Given the description of an element on the screen output the (x, y) to click on. 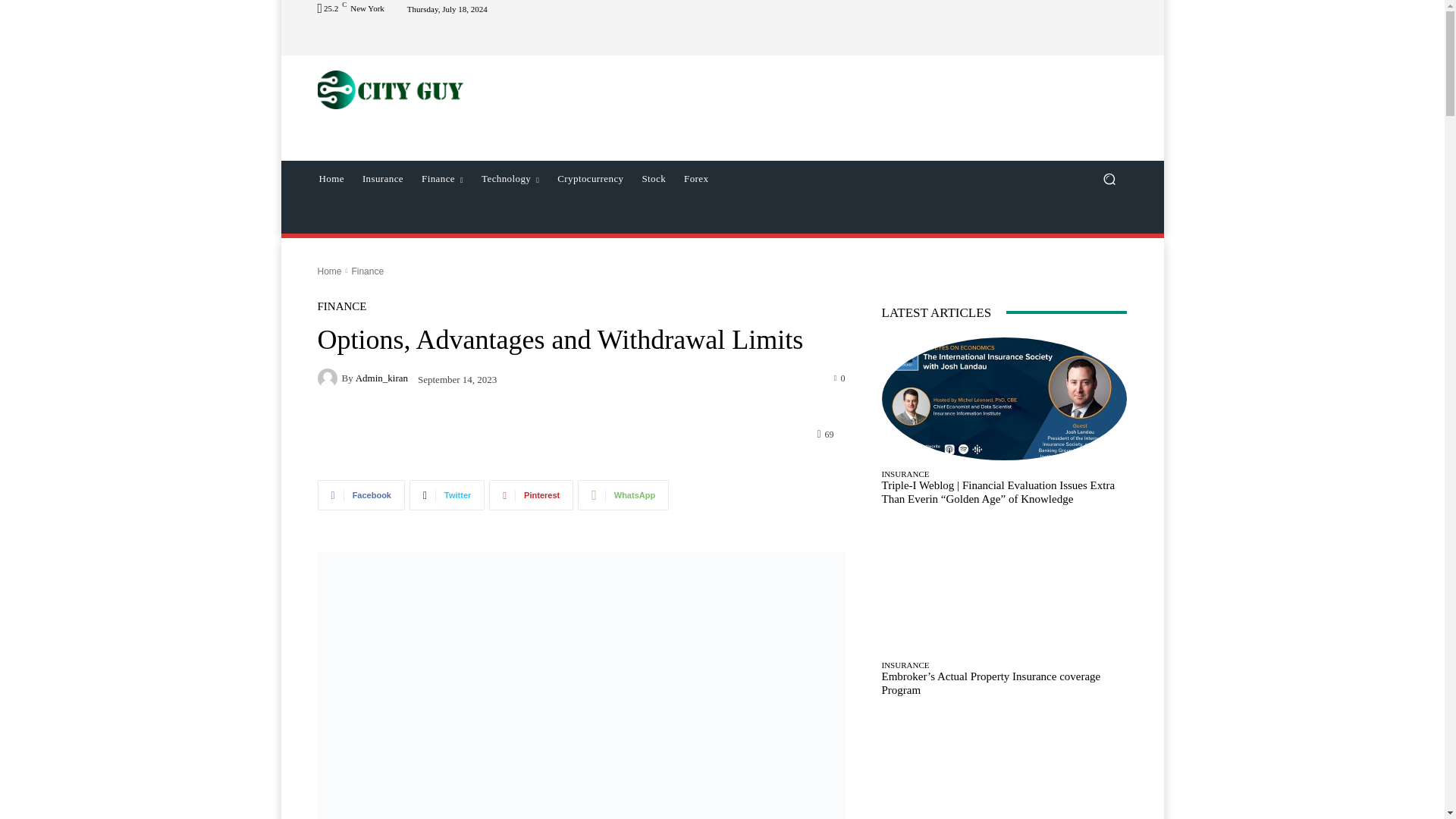
Home (330, 178)
Stock (653, 178)
Technology (509, 178)
Cryptocurrency (589, 178)
FINANCE (341, 306)
View all posts in Finance (367, 271)
Twitter (446, 494)
Finance (441, 178)
Insurance (382, 178)
Facebook (360, 494)
Forex (696, 178)
Finance (367, 271)
Pinterest (531, 494)
WhatsApp (623, 494)
Home (328, 271)
